Given the description of an element on the screen output the (x, y) to click on. 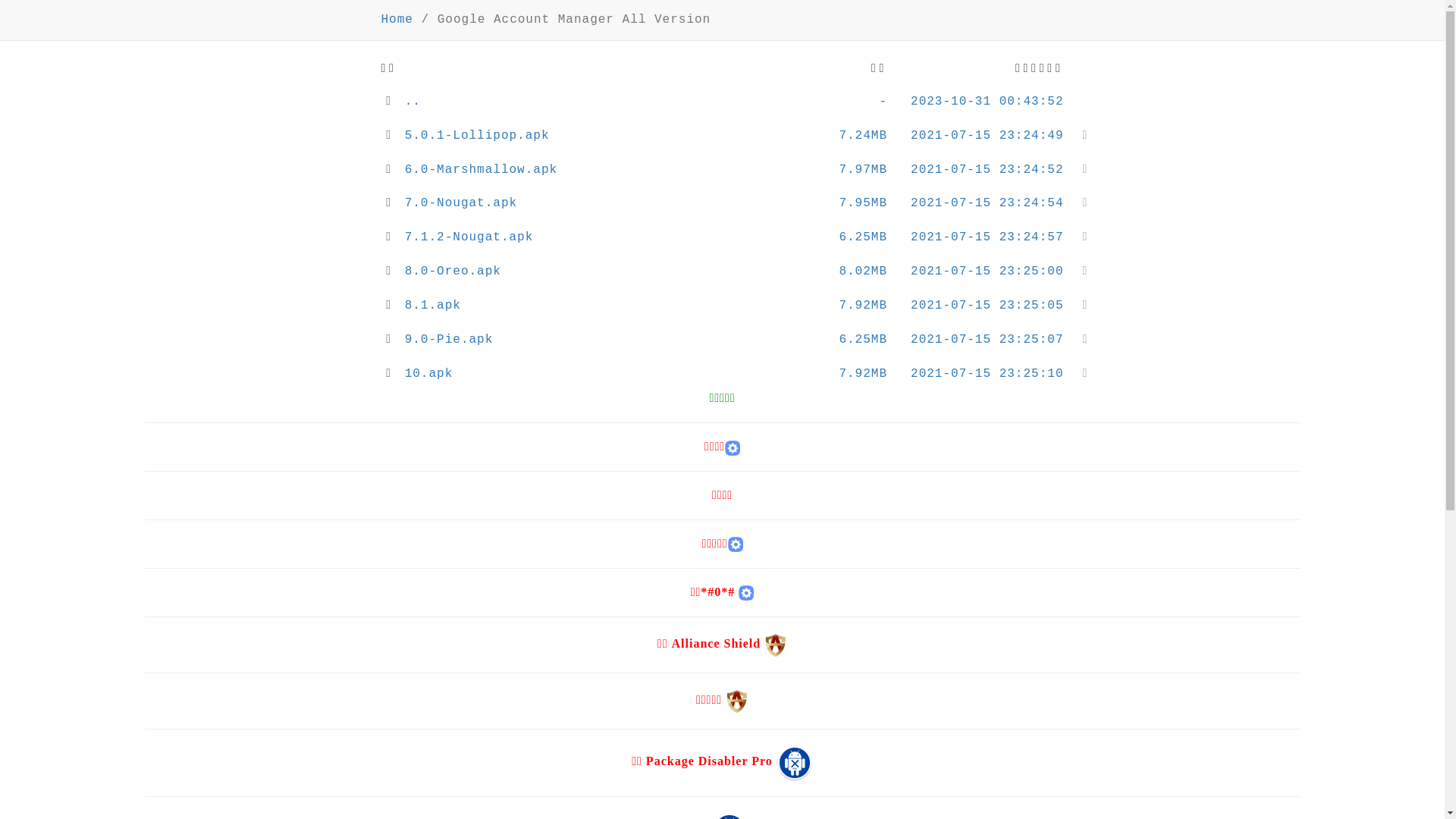
..
-
2023-10-31 00:43:52 Element type: text (722, 101)
5.0.1-Lollipop.apk
7.24MB
2021-07-15 23:24:49 Element type: text (722, 135)
7.0-Nougat.apk
7.95MB
2021-07-15 23:24:54 Element type: text (722, 203)
9.0-Pie.apk
6.25MB
2021-07-15 23:25:07 Element type: text (722, 339)
7.1.2-Nougat.apk
6.25MB
2021-07-15 23:24:57 Element type: text (722, 237)
Home Element type: text (396, 19)
8.0-Oreo.apk
8.02MB
2021-07-15 23:25:00 Element type: text (722, 271)
10.apk
7.92MB
2021-07-15 23:25:10 Element type: text (722, 373)
8.1.apk
7.92MB
2021-07-15 23:25:05 Element type: text (722, 305)
6.0-Marshmallow.apk
7.97MB
2021-07-15 23:24:52 Element type: text (722, 169)
